Given the description of an element on the screen output the (x, y) to click on. 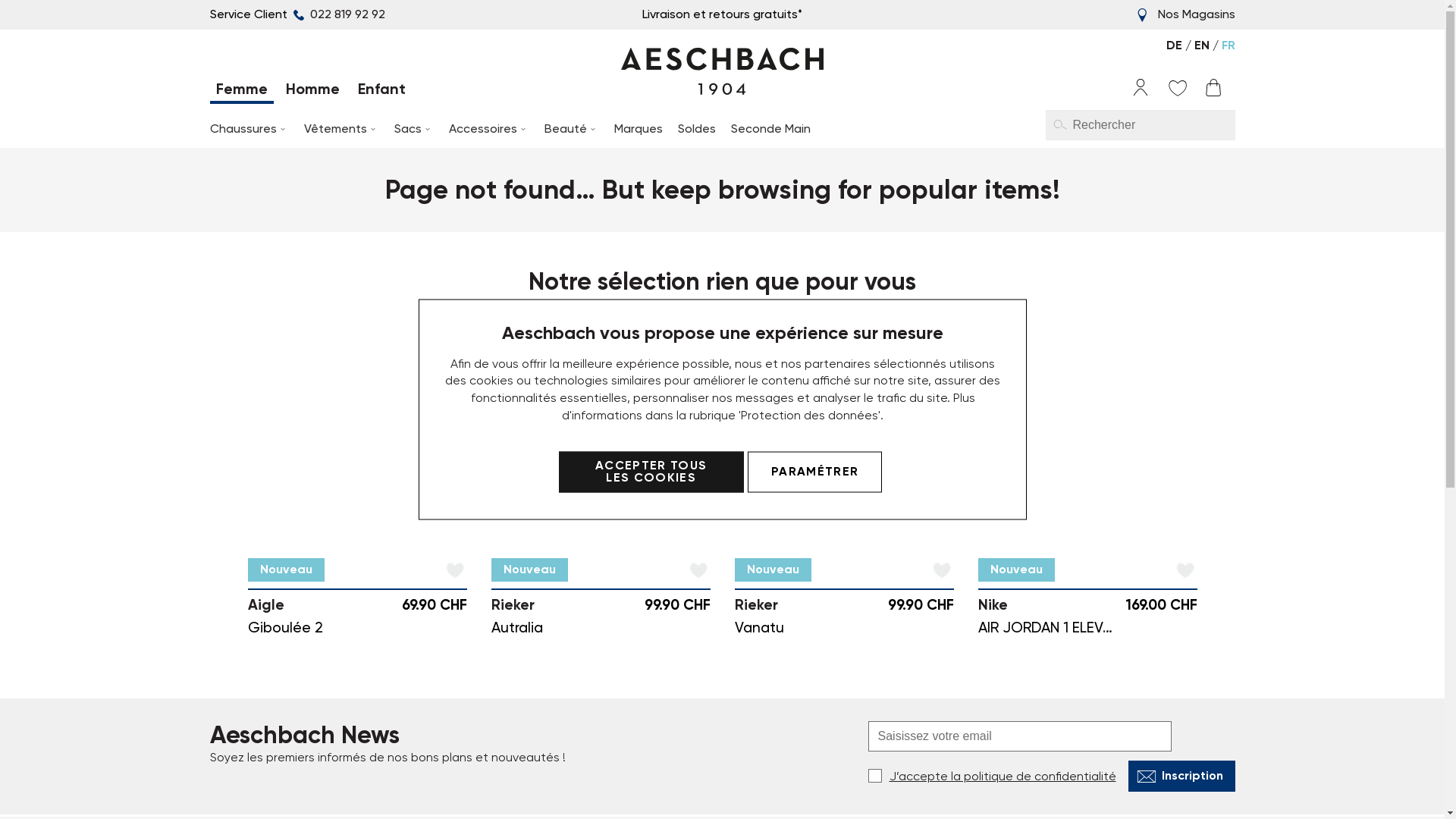
Marques Element type: text (638, 128)
Jobs Element type: text (748, 724)
Homme Element type: text (312, 91)
Enfant Element type: text (381, 91)
Mon compte Element type: text (770, 710)
Inscription Element type: text (1181, 548)
EN Element type: text (1202, 44)
Nos Magasins Element type: text (1195, 13)
Femme Element type: text (241, 91)
Seconde Main Element type: text (770, 128)
022 819 92 92 Element type: text (336, 14)
Chaussures Element type: text (248, 128)
ACCEPTER TOUS LES COOKIES Element type: text (650, 471)
Accessoires Element type: text (488, 128)
DE Element type: text (1175, 44)
Nos magasins Element type: text (775, 670)
Soldes Element type: text (696, 128)
shop@a1904.ch Element type: text (1039, 741)
Rechercher Element type: text (1058, 124)
+41 22 819 92 92 Element type: text (1039, 724)
Sacs Element type: text (413, 128)
